Given the description of an element on the screen output the (x, y) to click on. 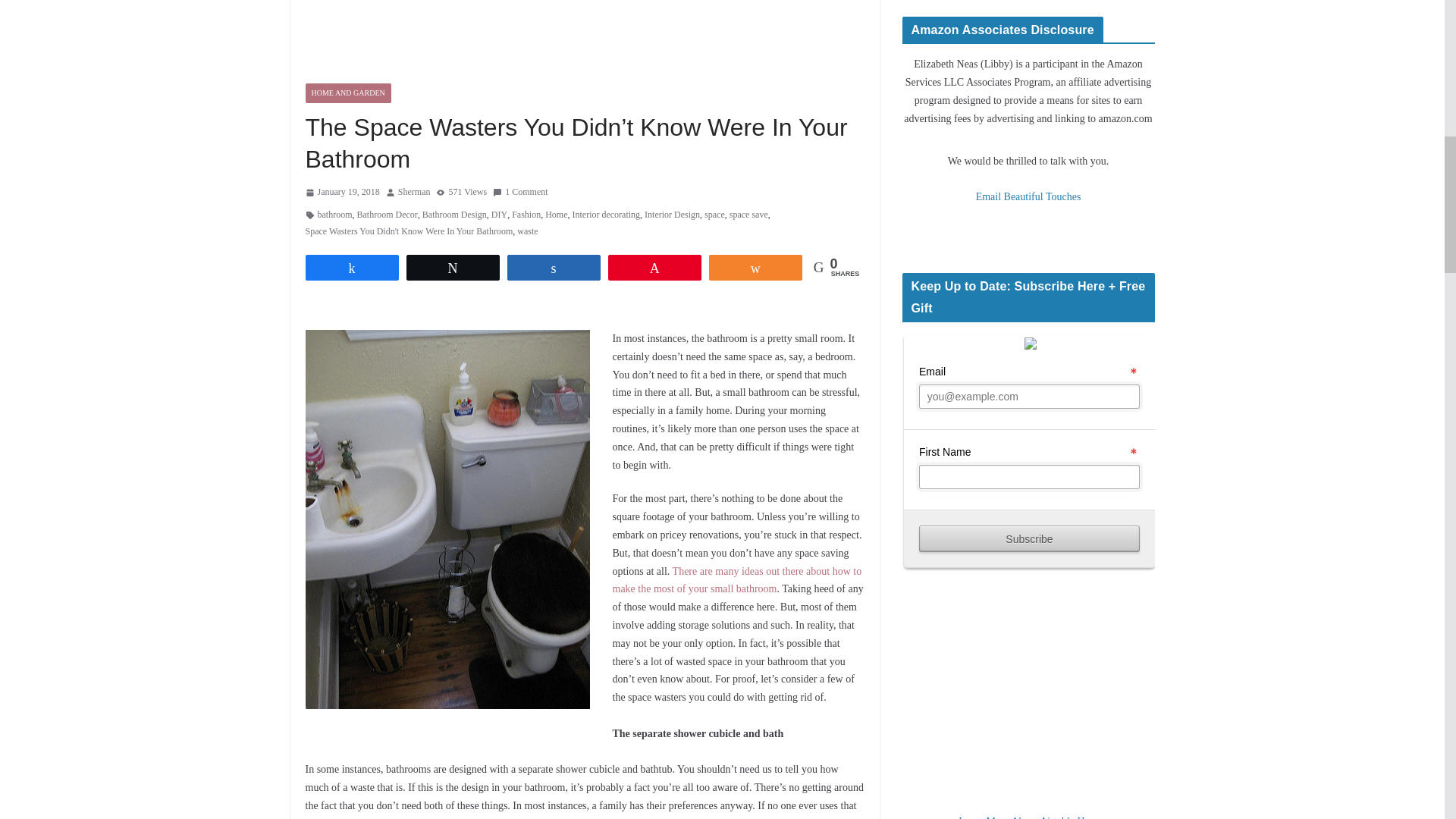
bathroom (334, 215)
January 19, 2018 (341, 192)
Bathroom Decor (386, 215)
Sherman (413, 192)
1 Comment (520, 192)
Bathroom Design (454, 215)
Sherman (413, 192)
5:15 pm (341, 192)
DIY (499, 215)
HOME AND GARDEN (347, 93)
